Given the description of an element on the screen output the (x, y) to click on. 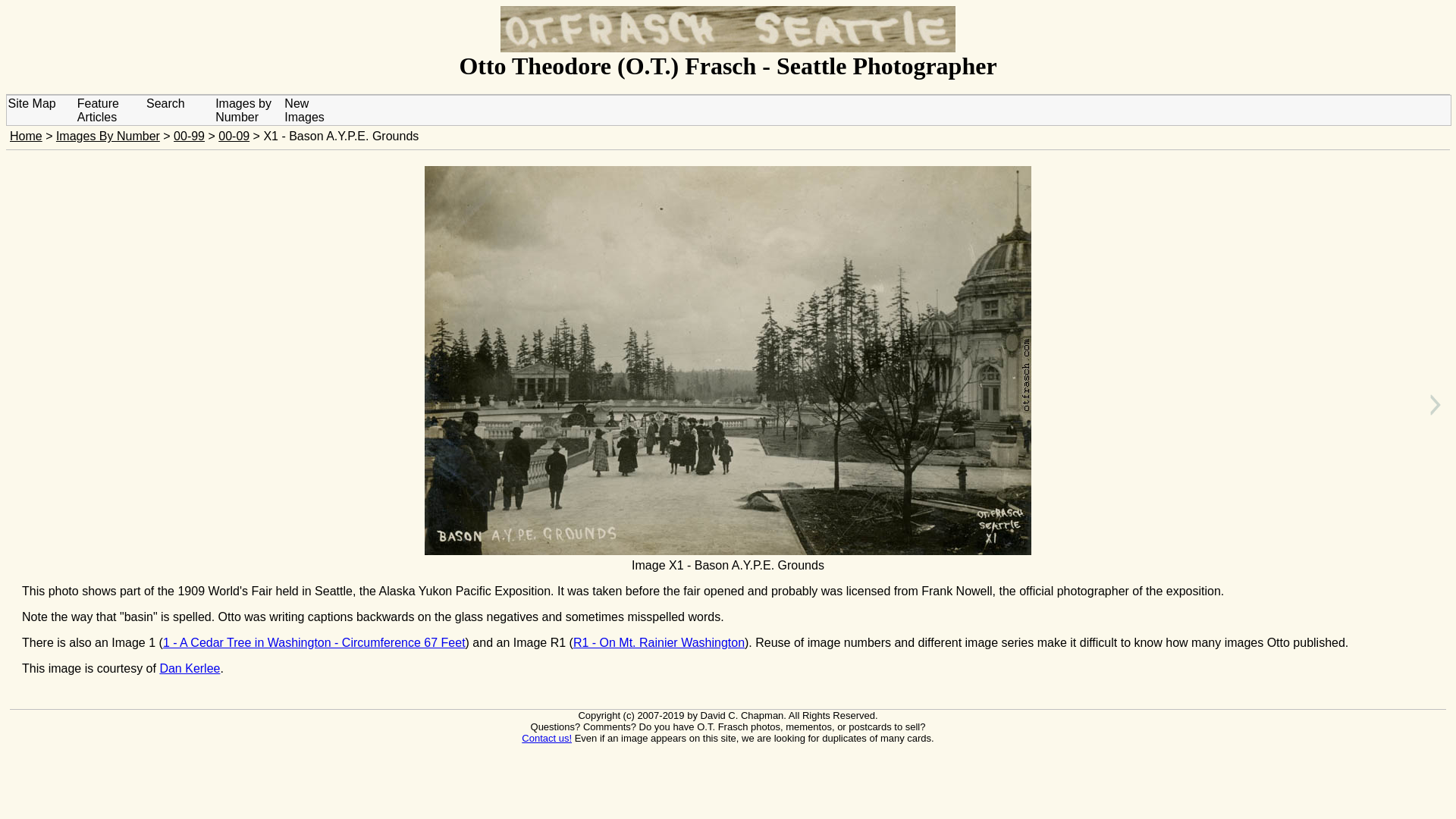
Images by Number (242, 110)
Search (165, 103)
New Images (303, 110)
Site Map (32, 103)
